Given the description of an element on the screen output the (x, y) to click on. 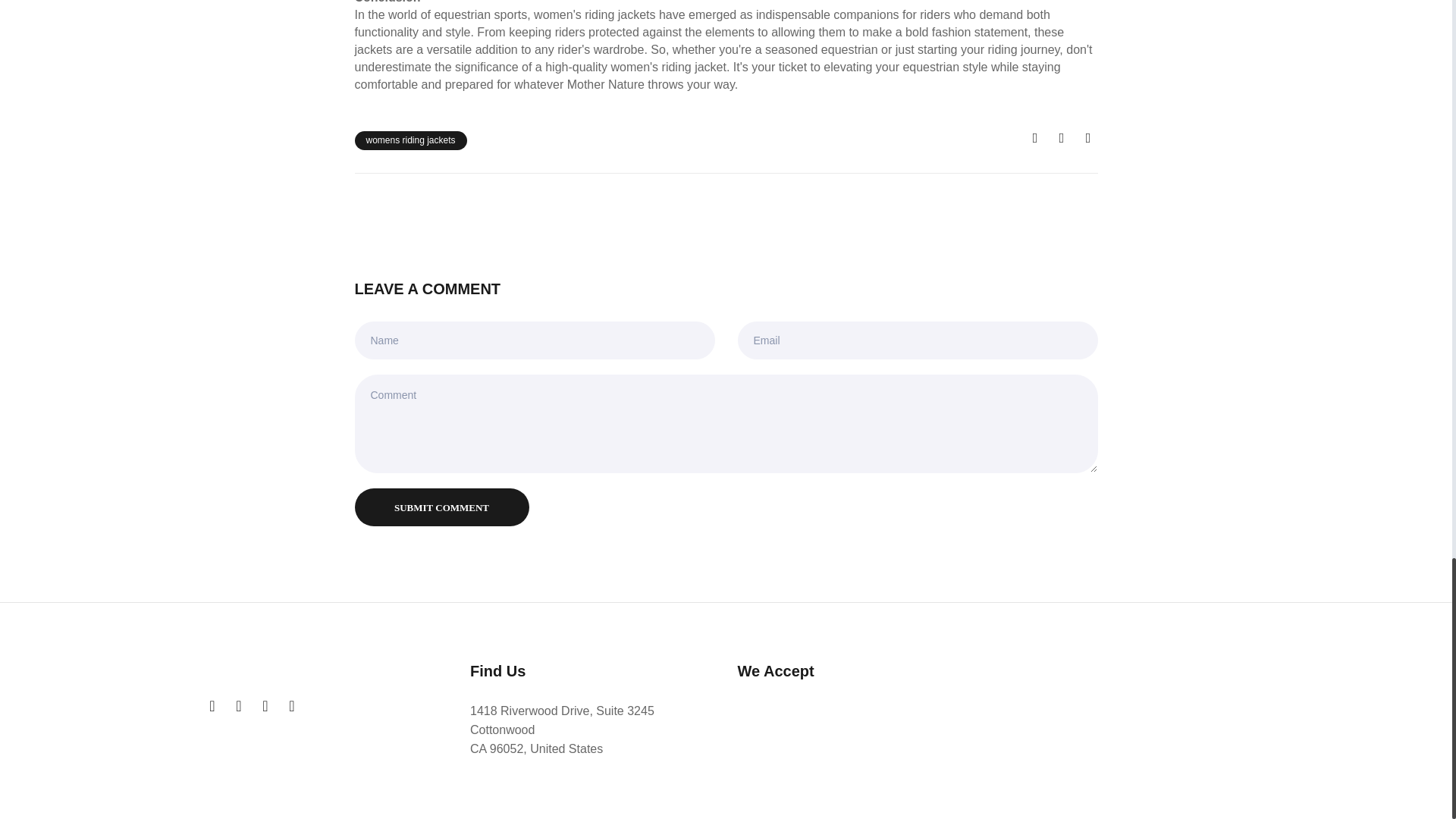
Share on twitter (1061, 138)
Vimeo (291, 705)
womens riding jackets (411, 140)
Share on whatsapp (1087, 138)
Twitter (212, 705)
Youtube (265, 705)
Share on Facebook (1034, 138)
SUBMIT COMMENT (442, 507)
Facebook (237, 705)
